Given the description of an element on the screen output the (x, y) to click on. 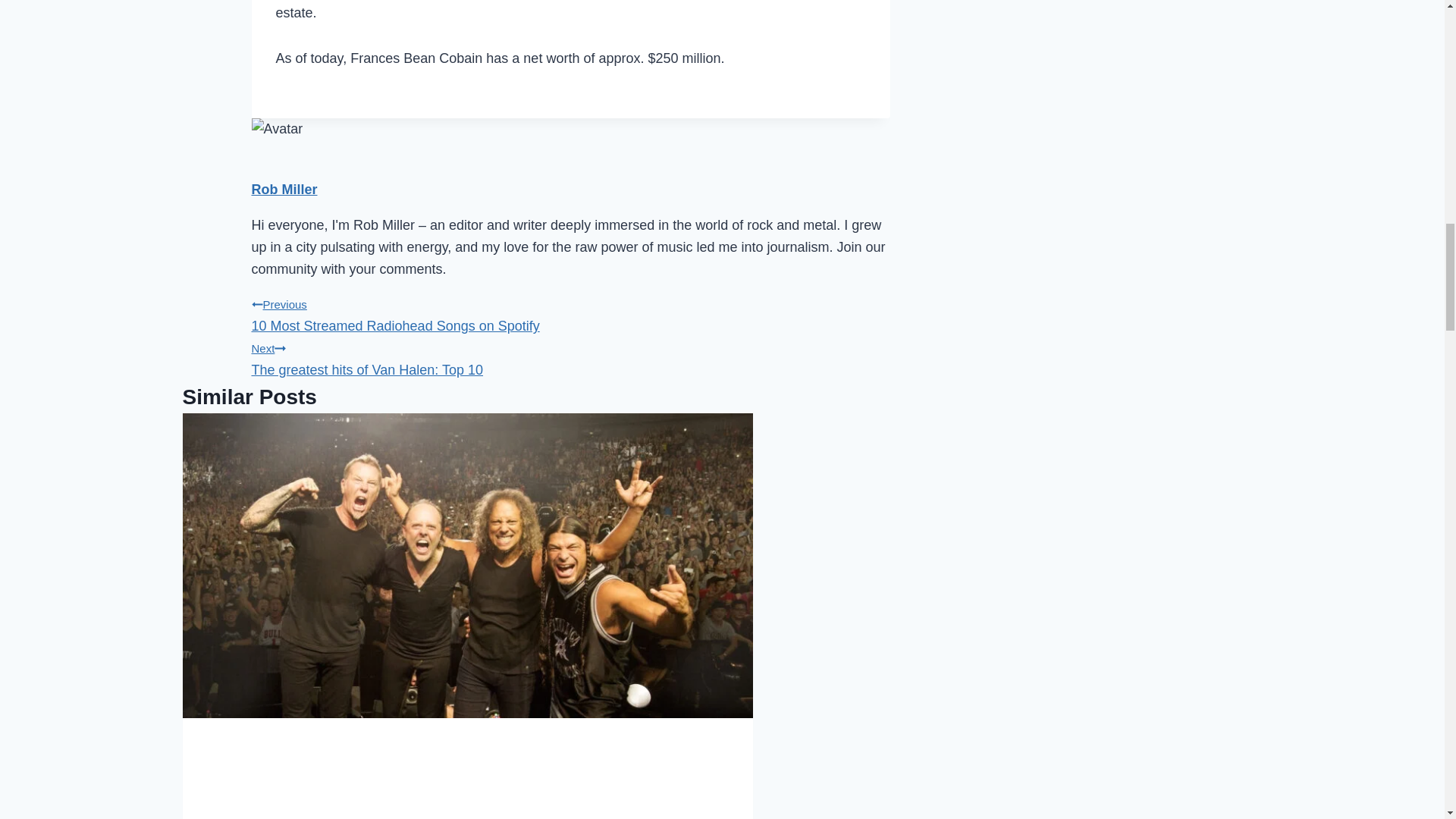
Posts by Rob Miller (570, 313)
Rob Miller (284, 189)
